Given the description of an element on the screen output the (x, y) to click on. 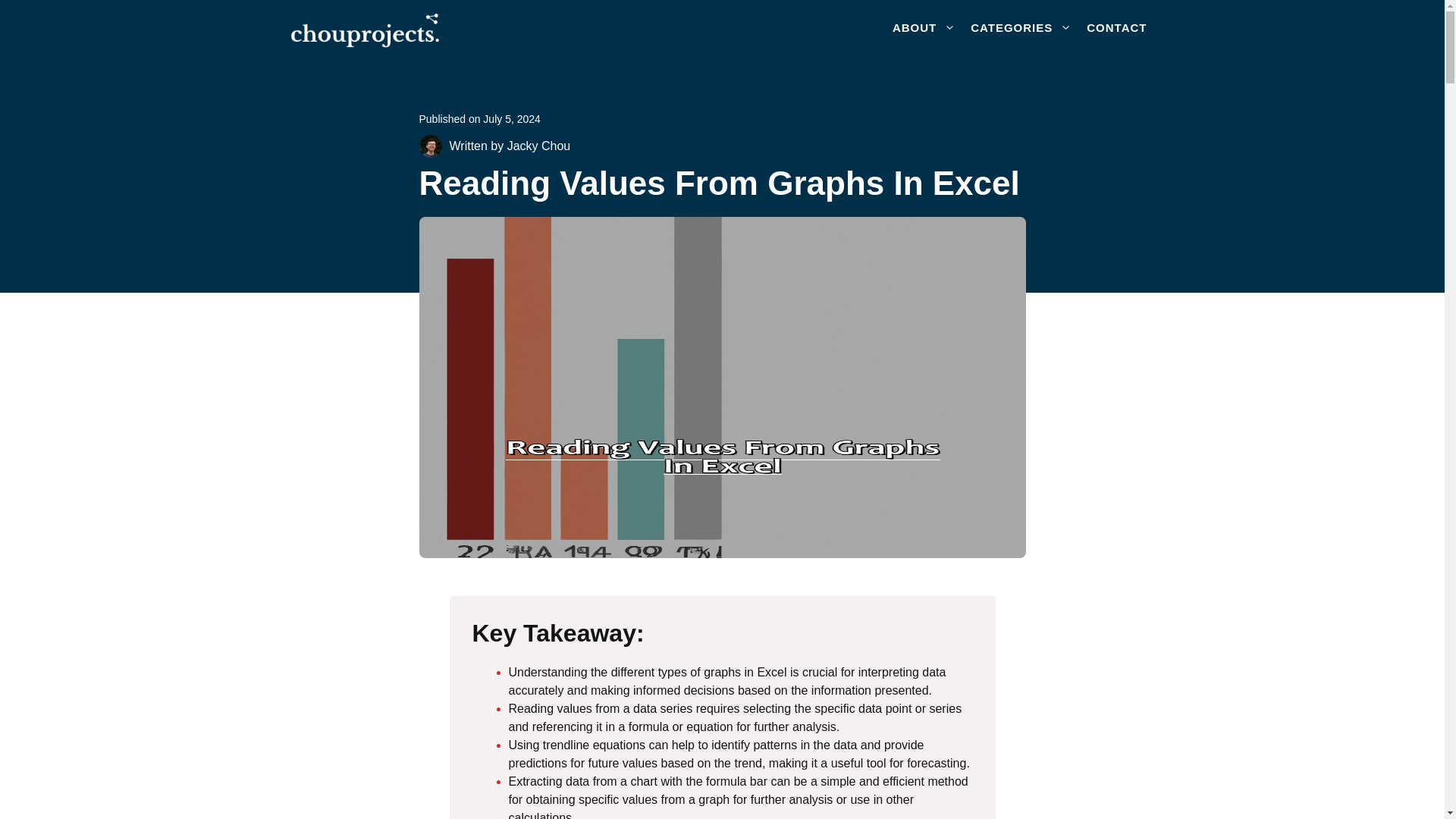
CONTACT (1116, 27)
CATEGORIES (1020, 27)
ABOUT (923, 27)
